Given the description of an element on the screen output the (x, y) to click on. 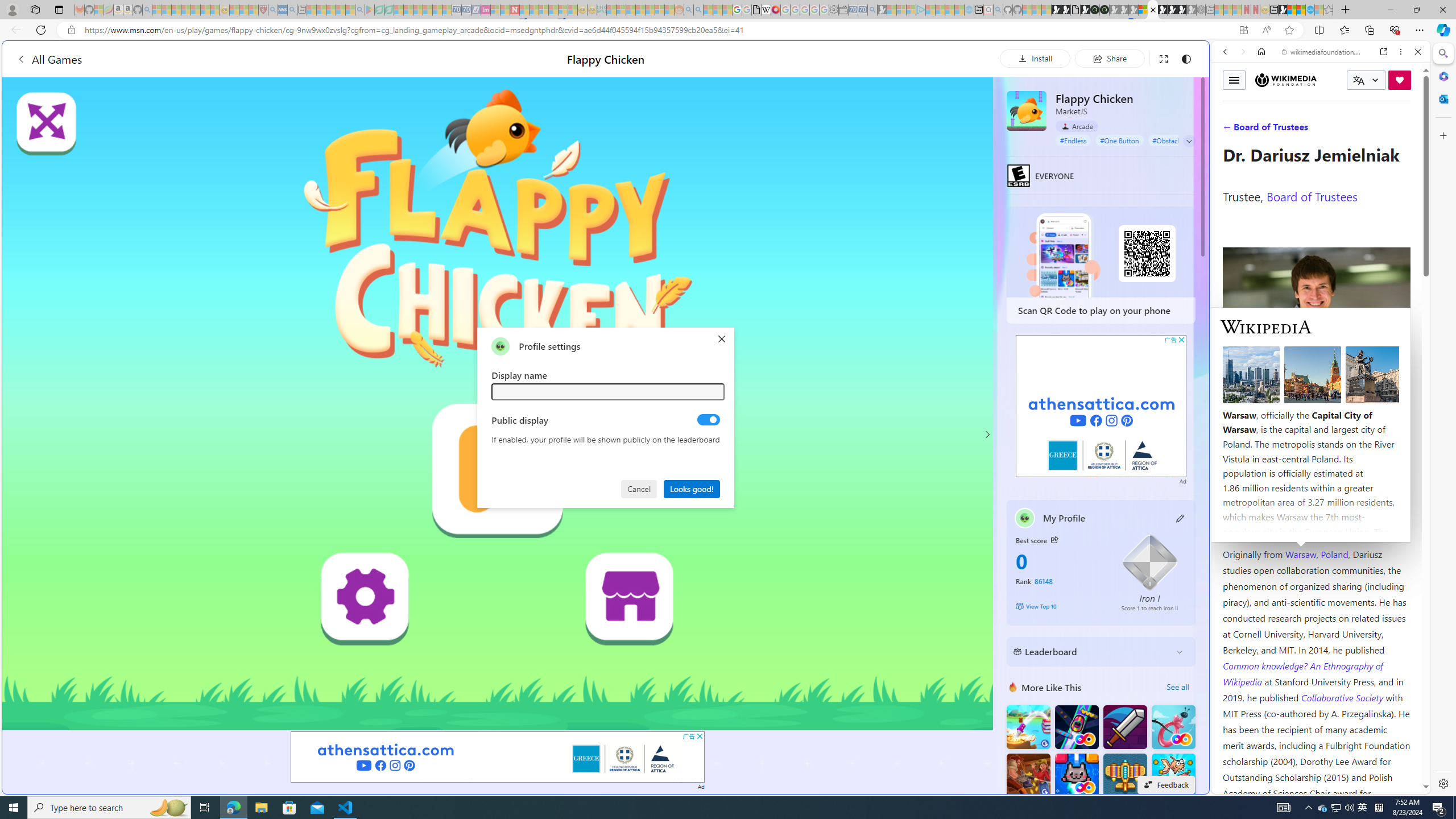
Play Zoo Boom in your browser | Games from Microsoft Start (1065, 9)
Search Filter, Search Tools (1350, 129)
Kinda Frugal - MSN - Sleeping (649, 9)
Wikimedia Foundation (1286, 79)
#Endless (1073, 140)
Class: text-input (608, 391)
Kozminski University (1316, 486)
